Given the description of an element on the screen output the (x, y) to click on. 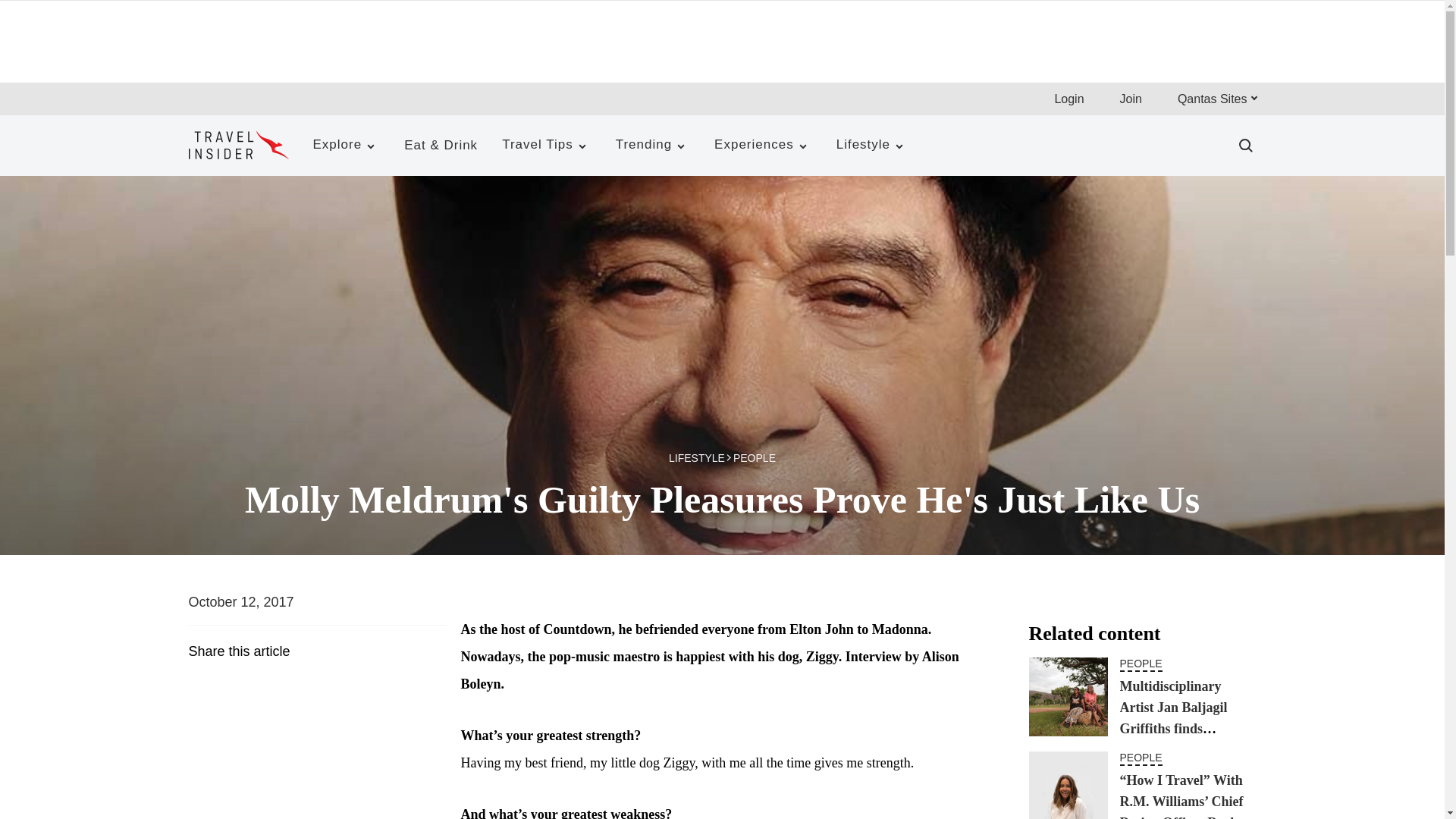
Explore (345, 145)
PEOPLE (754, 461)
Login (1068, 98)
LIFESTYLE (700, 461)
Qantas Sites (1216, 98)
Trending (652, 145)
Travel Insider (237, 145)
Lifestyle (872, 145)
Experiences (762, 145)
PEOPLE (1140, 664)
Travel Insider (237, 144)
Join (1130, 98)
Travel Tips (546, 145)
